Given the description of an element on the screen output the (x, y) to click on. 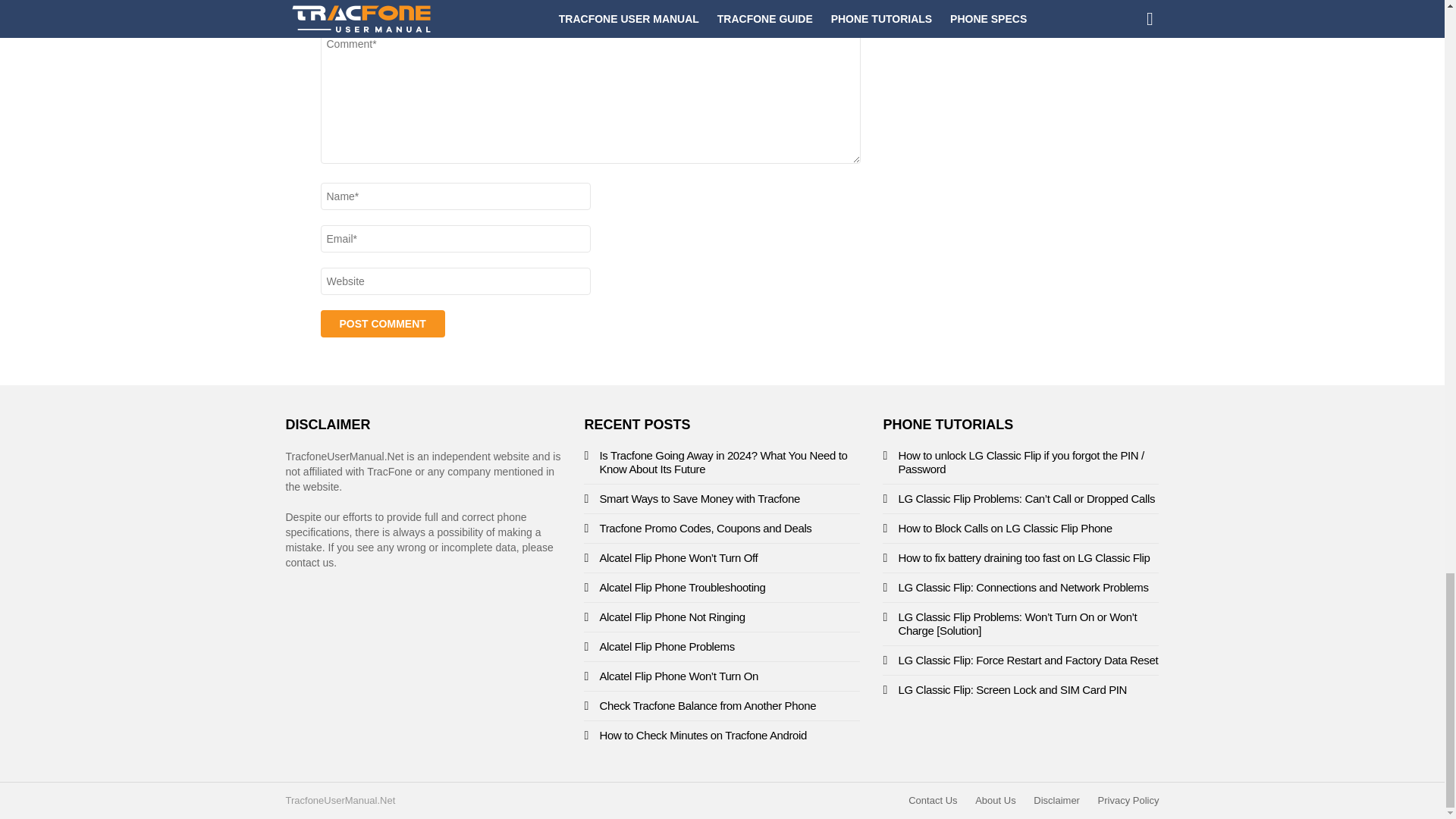
Alcatel Flip Phone Problems (665, 645)
How to Check Minutes on Tracfone Android (702, 735)
Alcatel Flip Phone Not Ringing (671, 616)
Check Tracfone Balance from Another Phone (706, 705)
Post Comment (382, 323)
Post Comment (382, 323)
Smart Ways to Save Money with Tracfone (698, 498)
Tracfone Promo Codes, Coupons and Deals (704, 527)
Alcatel Flip Phone Troubleshooting (681, 586)
